Given the description of an element on the screen output the (x, y) to click on. 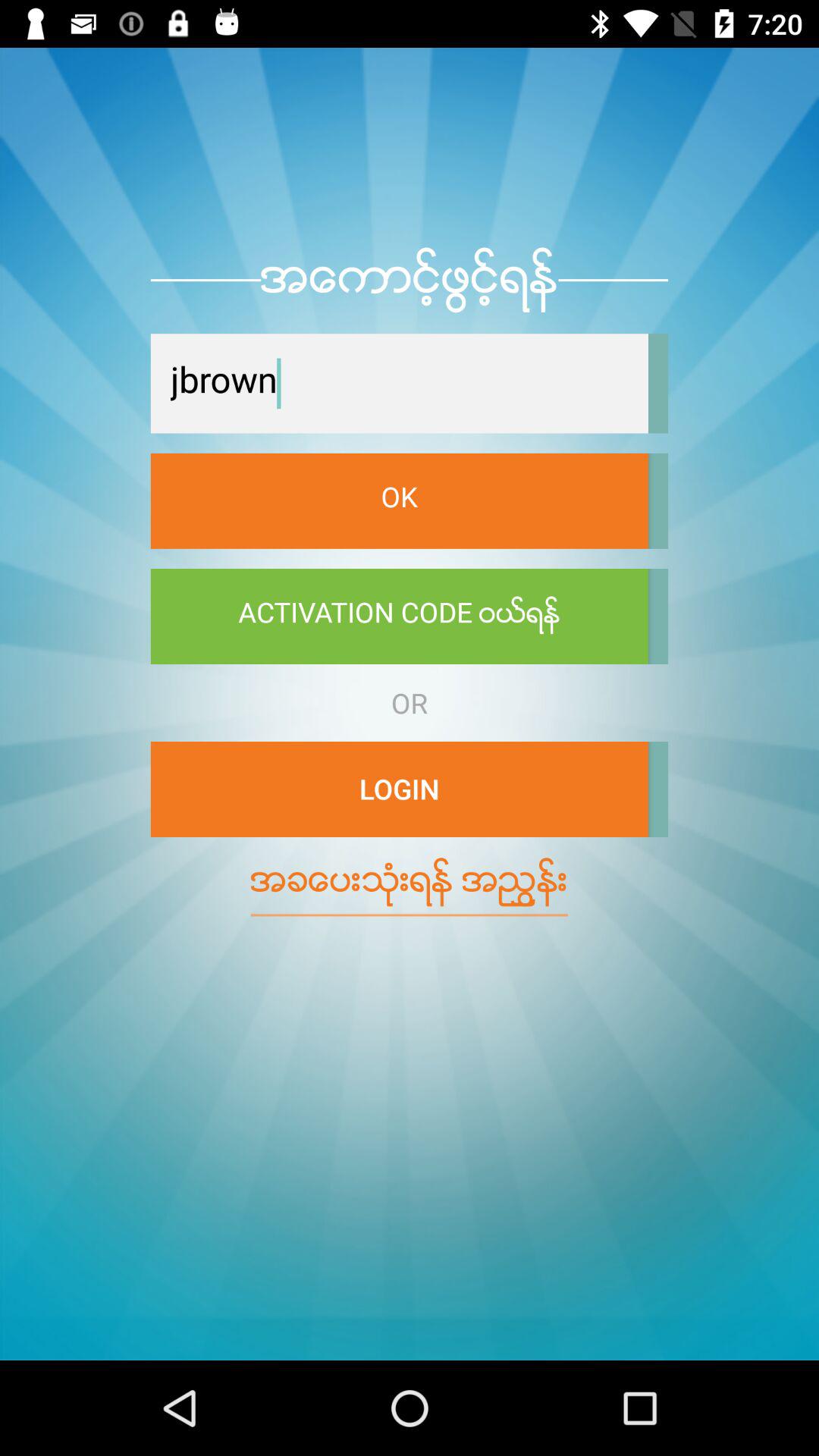
select the ok (399, 500)
